Given the description of an element on the screen output the (x, y) to click on. 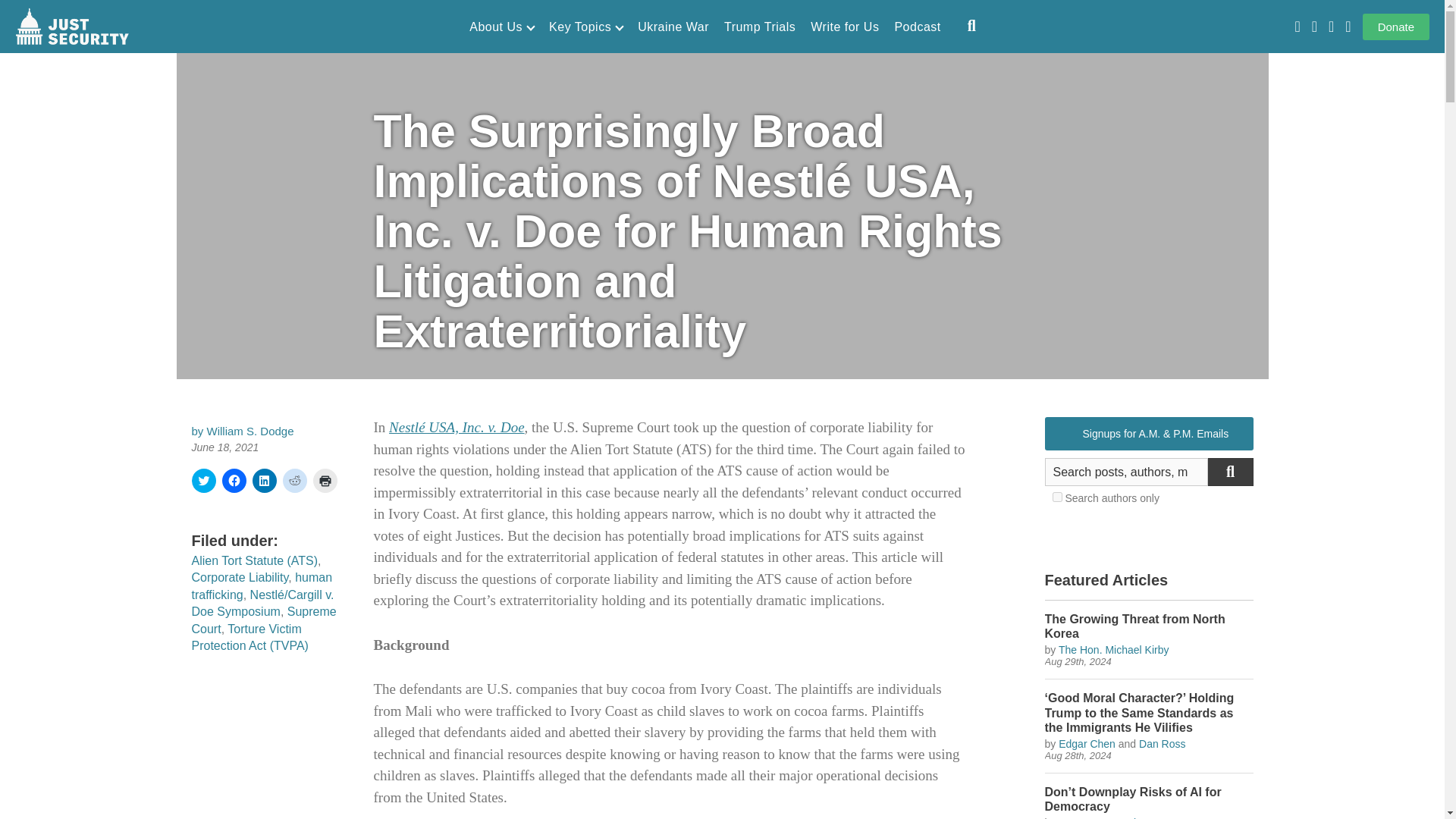
on (1057, 497)
Profile and articles by Suzanne Nossel (1096, 817)
Click to share on Reddit (293, 480)
Search for: (1126, 471)
Write for Us (844, 27)
Click to share on Twitter (202, 480)
Profile and articles by The Hon. Michael Kirby (1113, 649)
Click to share on Facebook (233, 480)
Ukraine War (673, 27)
Click to share on LinkedIn (263, 480)
